Given the description of an element on the screen output the (x, y) to click on. 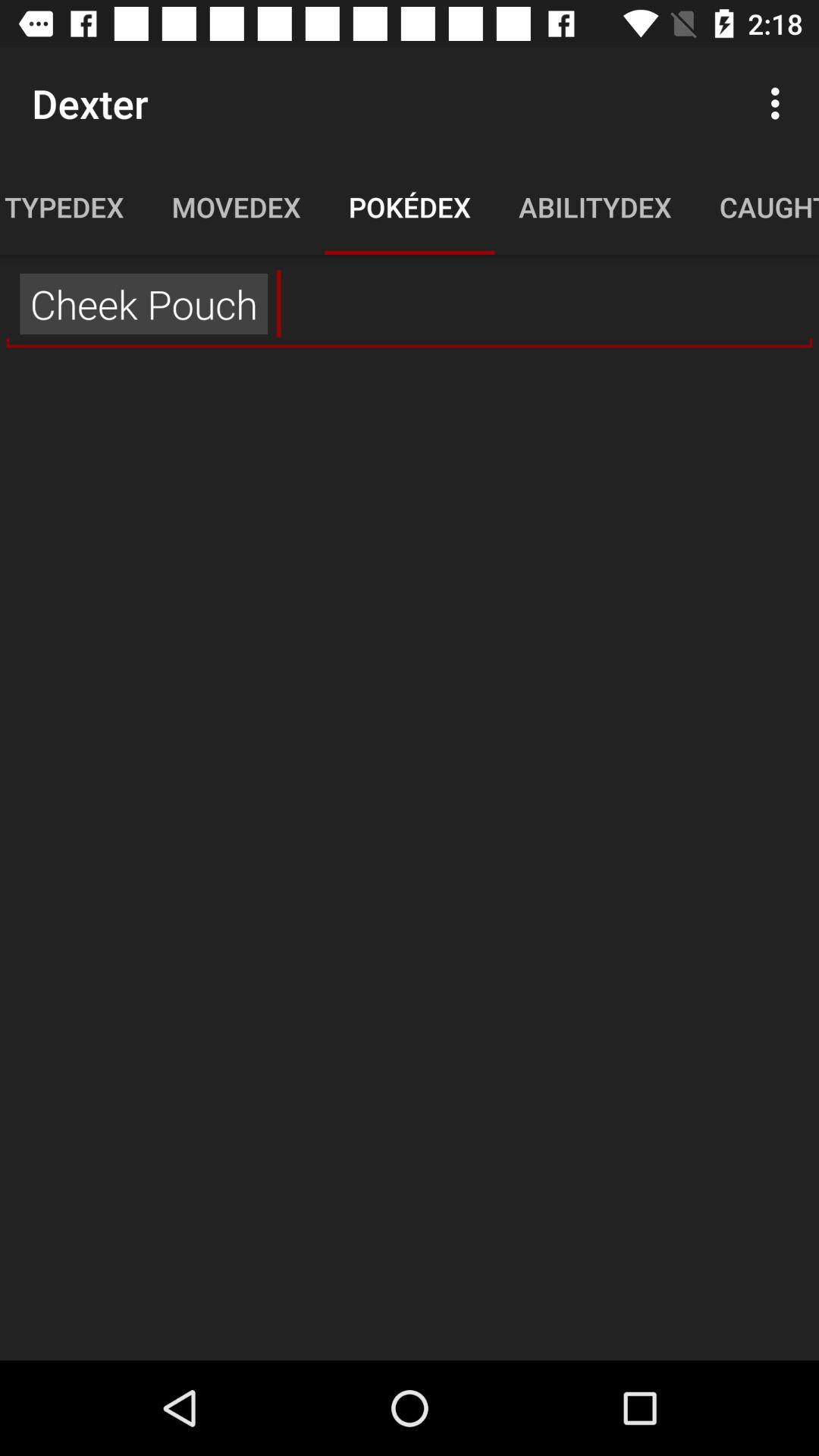
turn off icon above the caughtdex icon (779, 103)
